Given the description of an element on the screen output the (x, y) to click on. 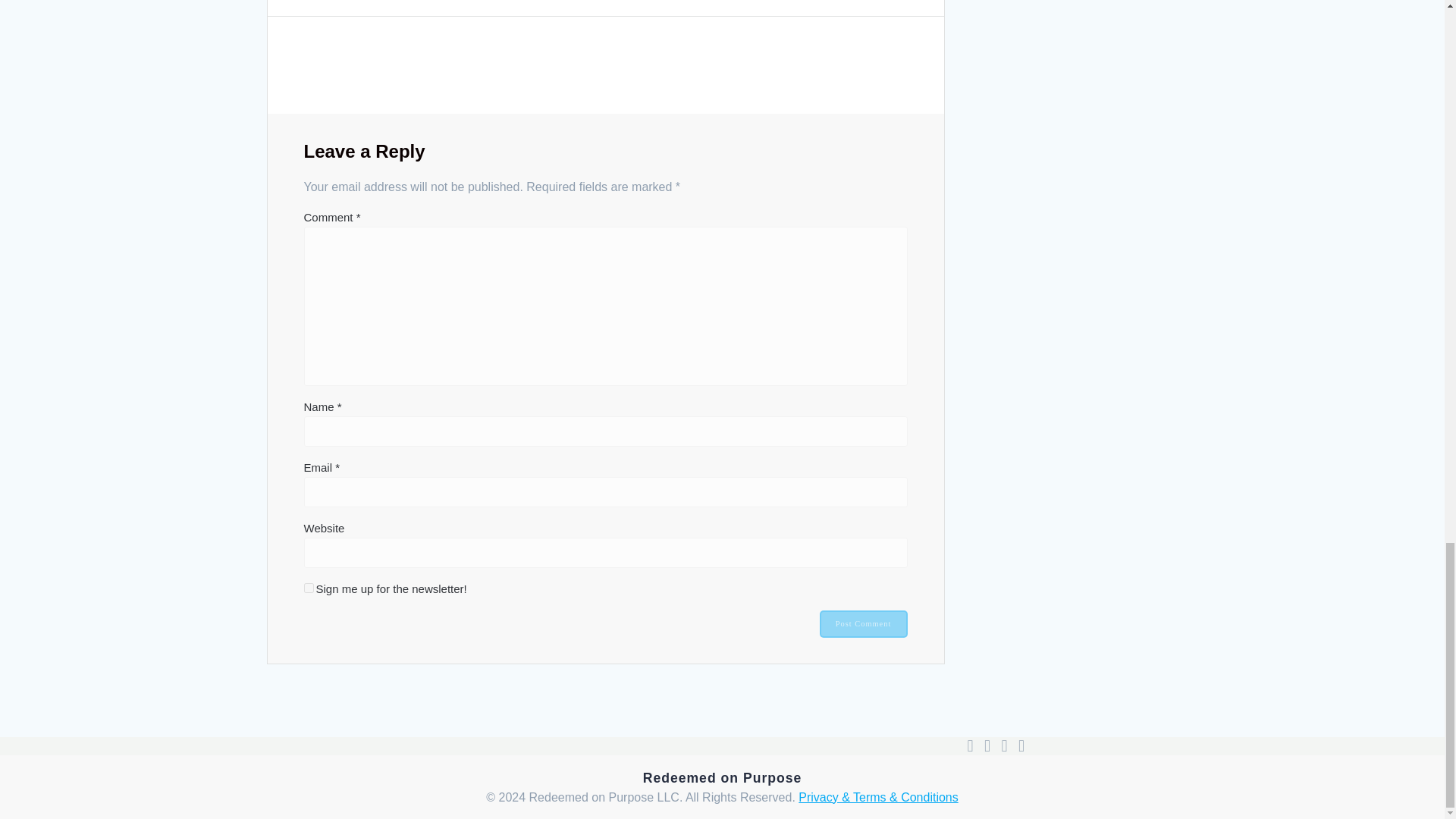
Post Comment (863, 624)
1 (307, 587)
Post Comment (863, 624)
